Given the description of an element on the screen output the (x, y) to click on. 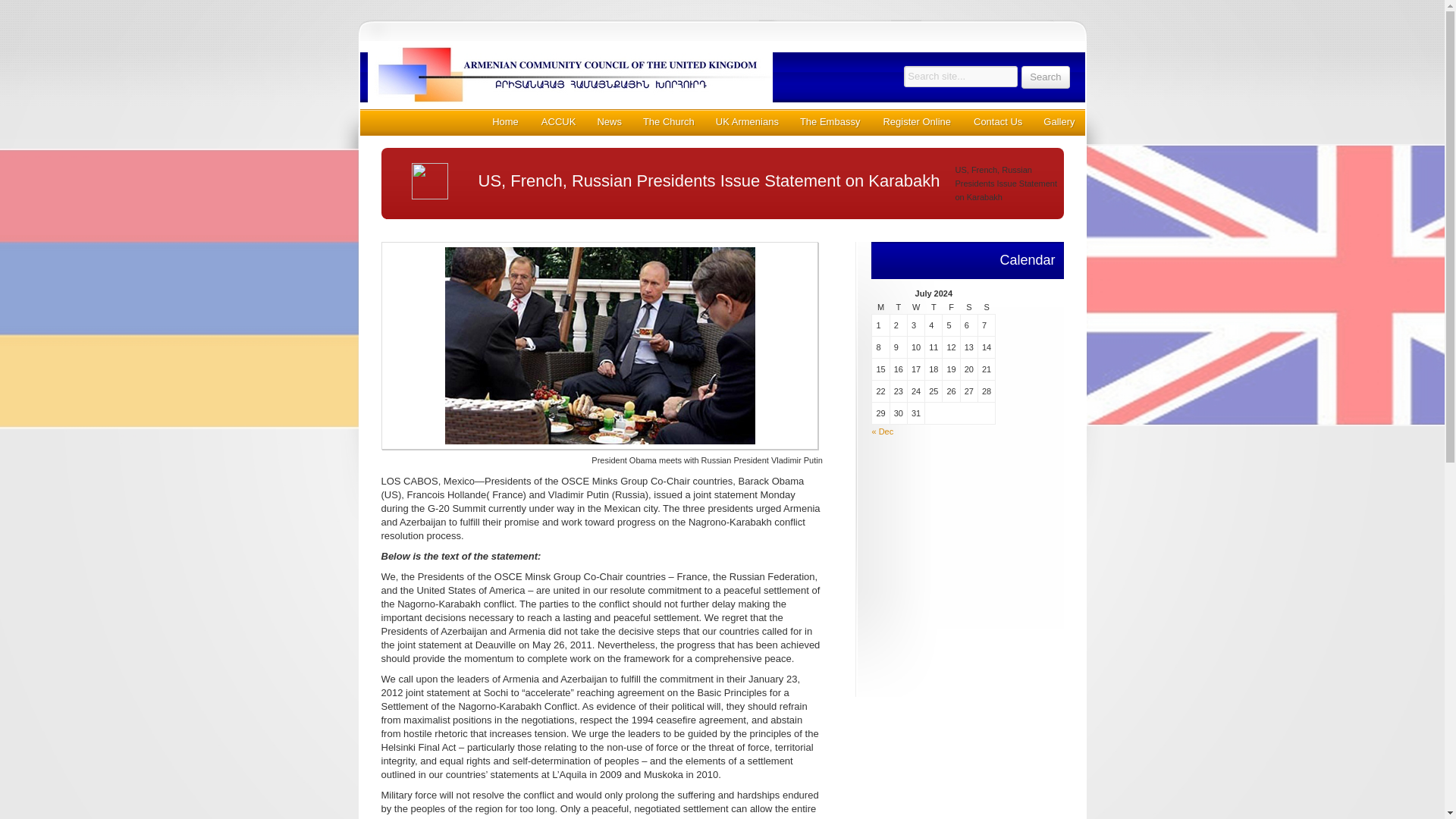
Armenian Community Council of the United Kingdom (613, 74)
ACCUK (557, 121)
News (608, 121)
Home (504, 121)
Search (1045, 77)
Search site... (960, 76)
Search (1045, 77)
The Church (667, 121)
UK Armenians (746, 121)
